Given the description of an element on the screen output the (x, y) to click on. 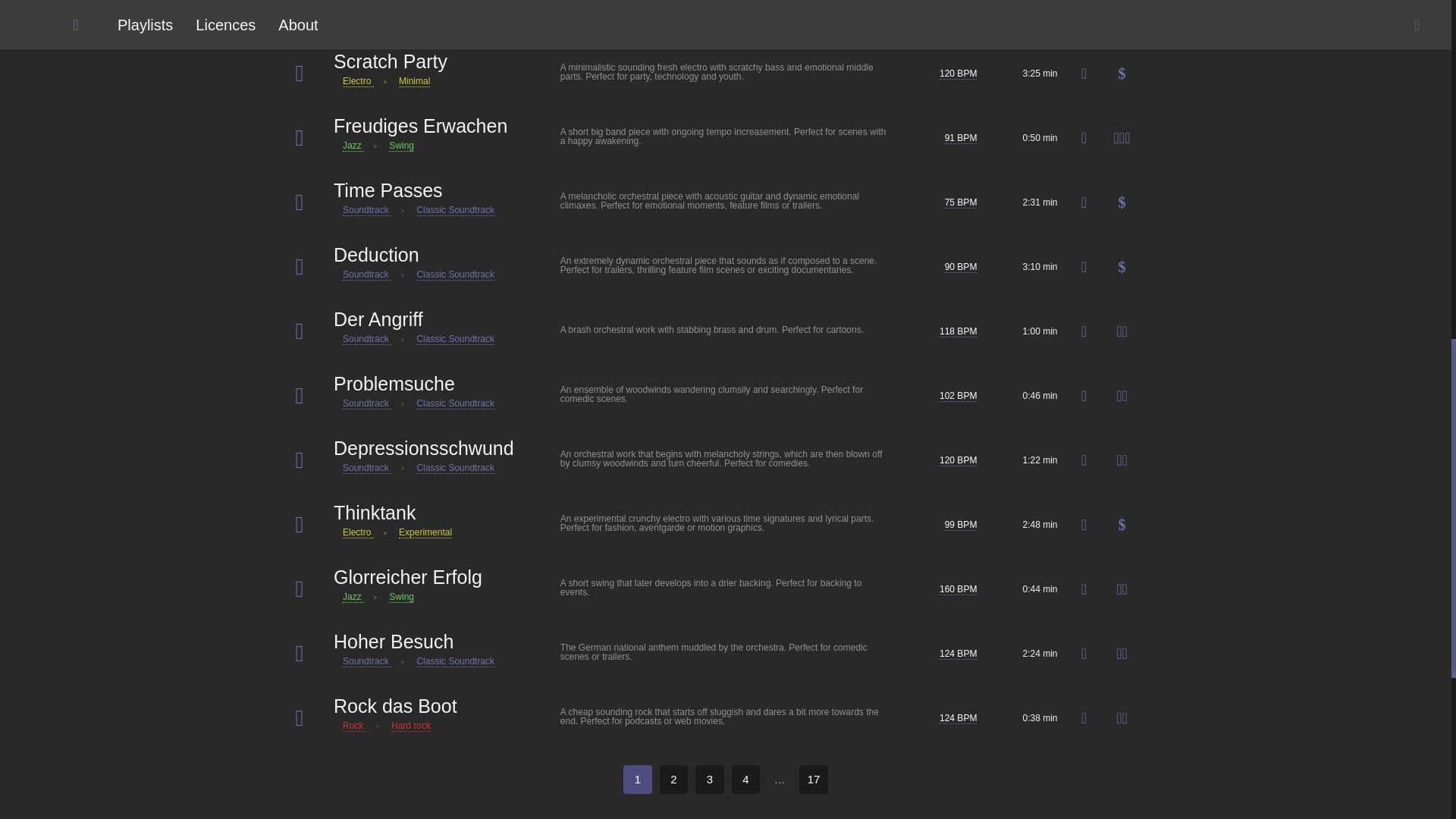
Search for this genre (358, 16)
Search for this subgenre (416, 16)
Search for this tempo (957, 9)
